Given the description of an element on the screen output the (x, y) to click on. 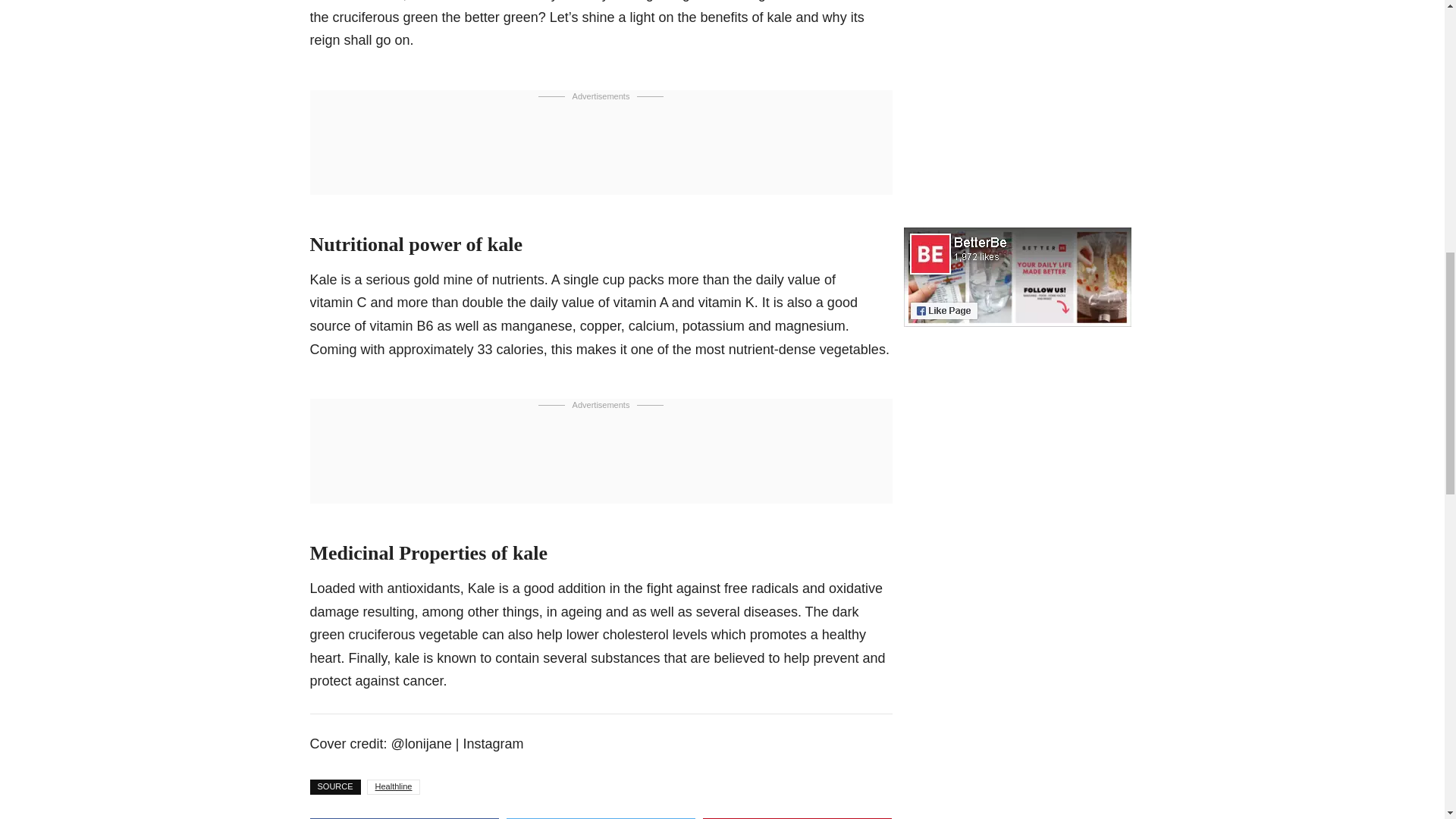
Healthline (393, 786)
